Given the description of an element on the screen output the (x, y) to click on. 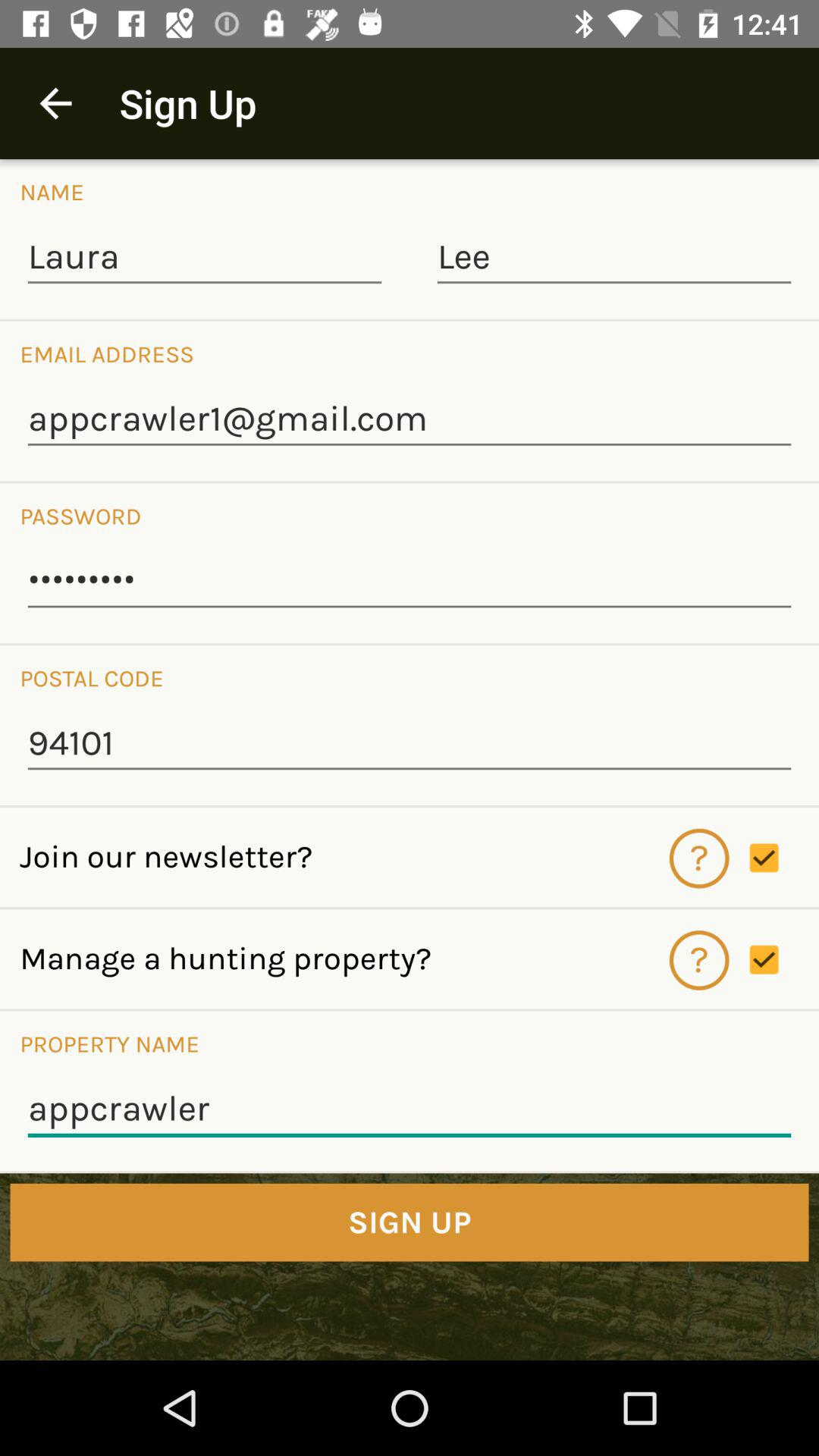
click lee (614, 257)
